Given the description of an element on the screen output the (x, y) to click on. 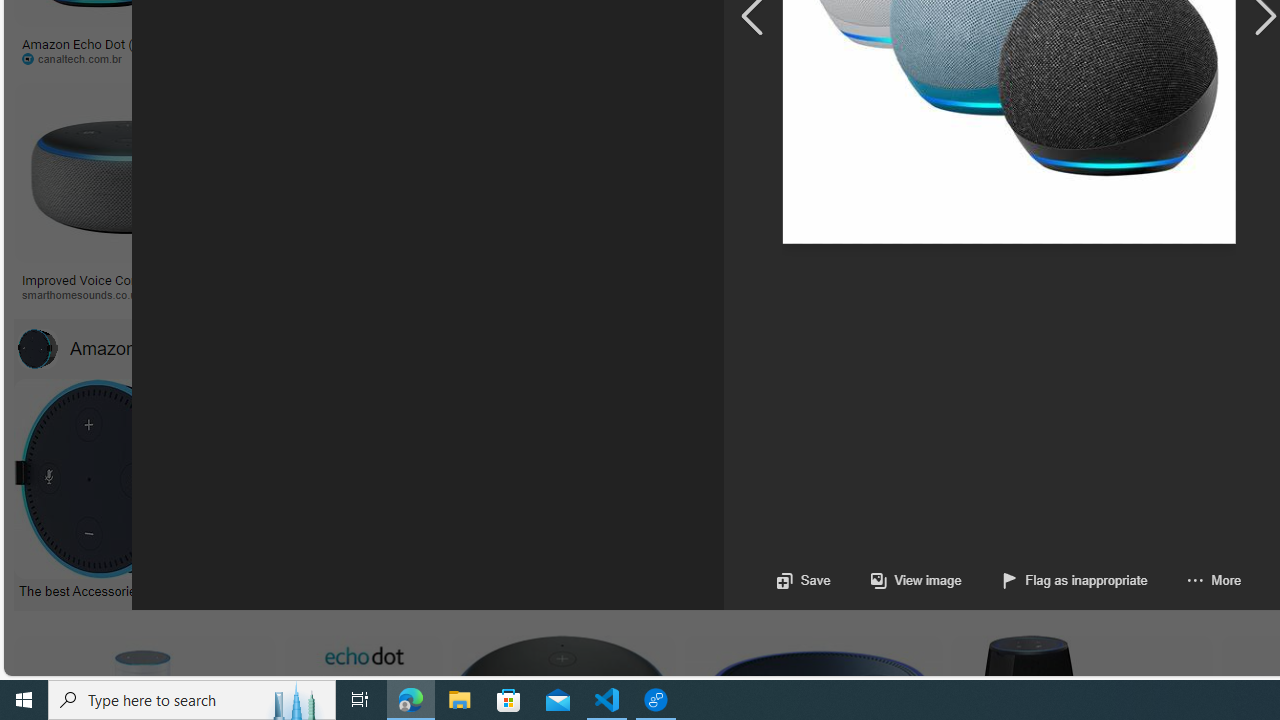
Flag as inappropriate (1074, 580)
Amazon Echo Dot With Clock Review | Security.org (404, 279)
Android Central (697, 294)
View image (916, 580)
smarthomesounds.co.uk (88, 294)
View image (895, 580)
Save (802, 580)
